Given the description of an element on the screen output the (x, y) to click on. 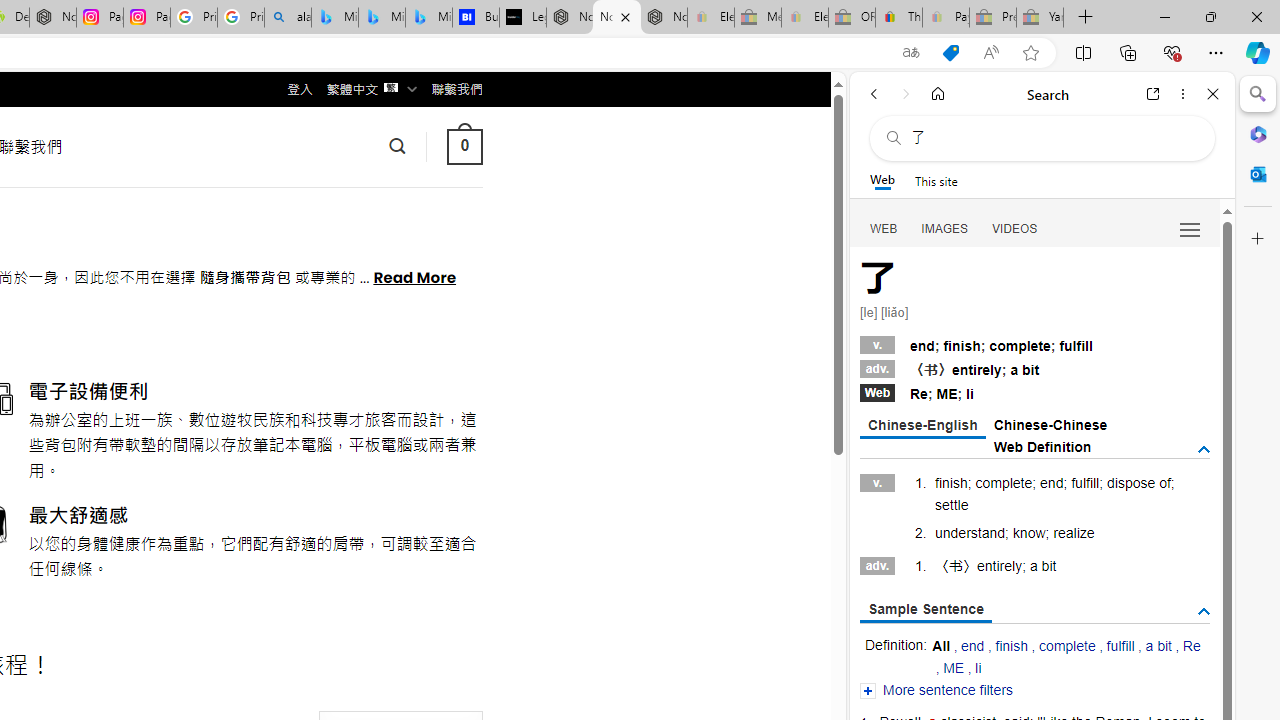
AutomationID: tgdef (1203, 449)
a bit (1158, 645)
Microsoft Bing Travel - Shangri-La Hotel Bangkok (428, 17)
realize (1073, 532)
Microsoft Bing Travel - Flights from Hong Kong to Bangkok (335, 17)
understand (970, 532)
